Given the description of an element on the screen output the (x, y) to click on. 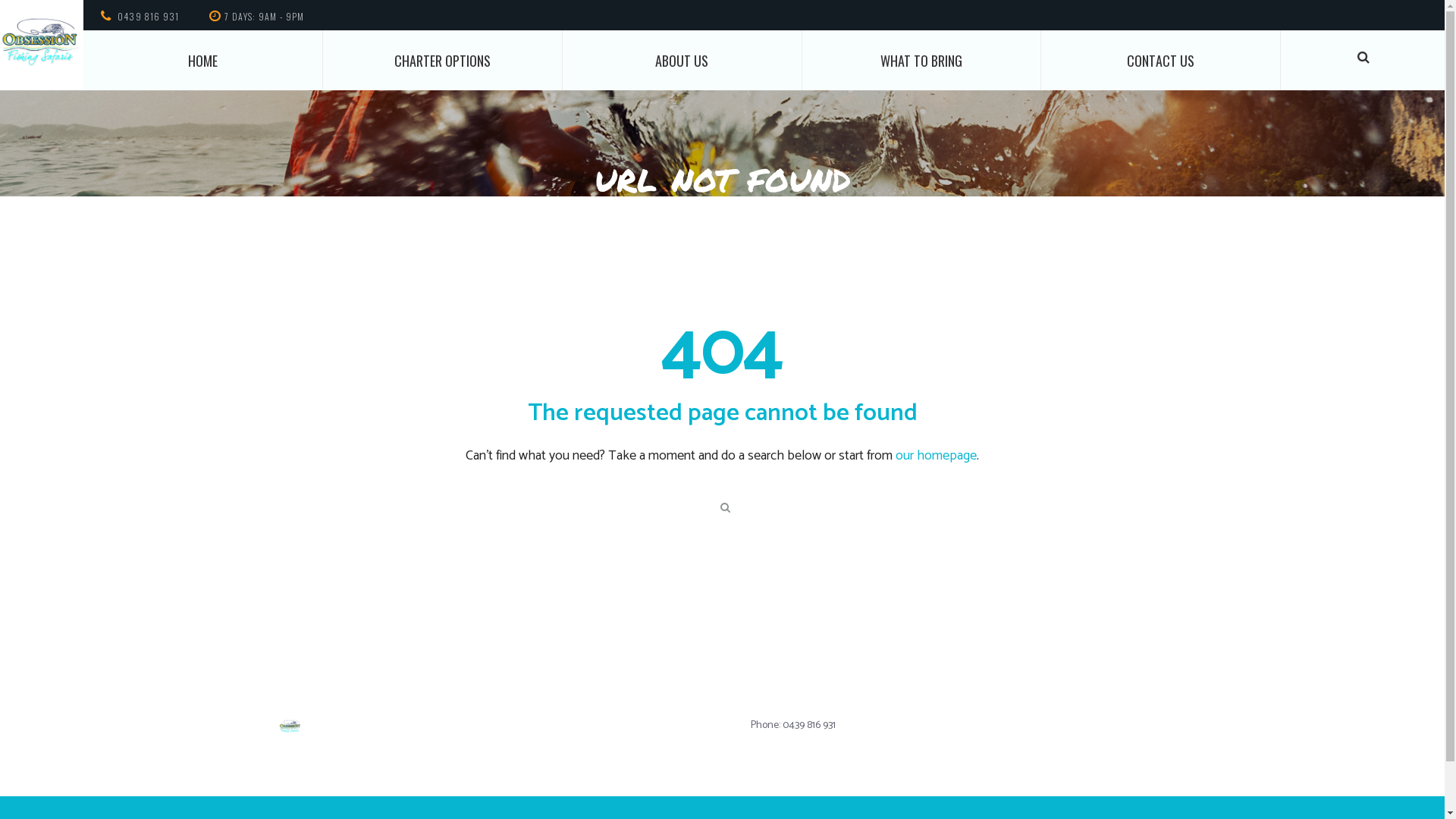
CONTACT US Element type: text (1160, 60)
Open search Element type: hover (1362, 56)
CHARTER OPTIONS Element type: text (442, 60)
WHAT TO BRING Element type: text (921, 60)
our homepage Element type: text (935, 455)
ABOUT US Element type: text (681, 60)
HOME Element type: text (202, 60)
0439 816 931 Element type: text (147, 15)
Open search Element type: hover (723, 506)
